Given the description of an element on the screen output the (x, y) to click on. 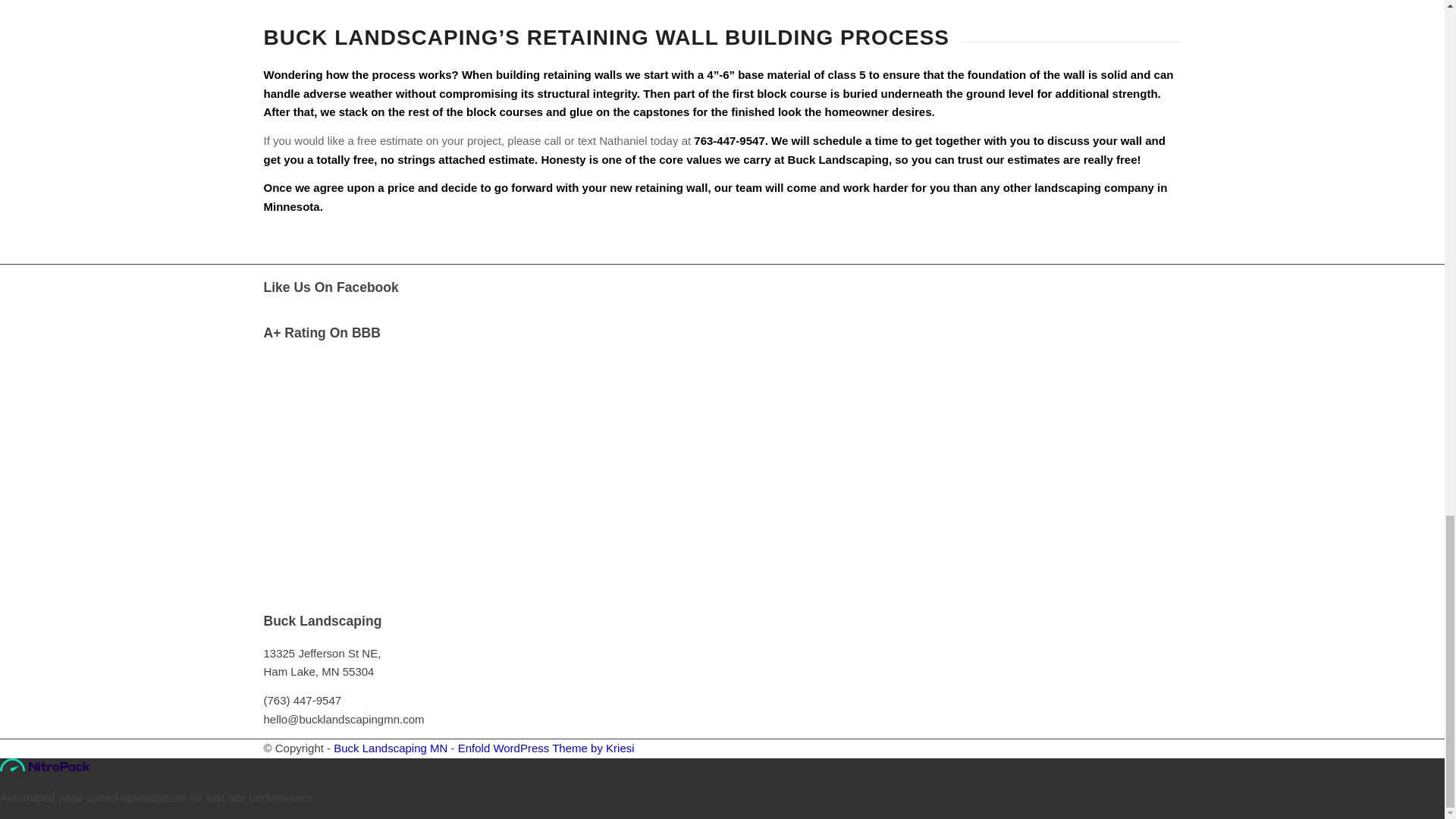
core values (690, 159)
763-447-9547 (729, 140)
Buck Landscaping MN (389, 748)
Enfold WordPress Theme by Kriesi (546, 748)
